Given the description of an element on the screen output the (x, y) to click on. 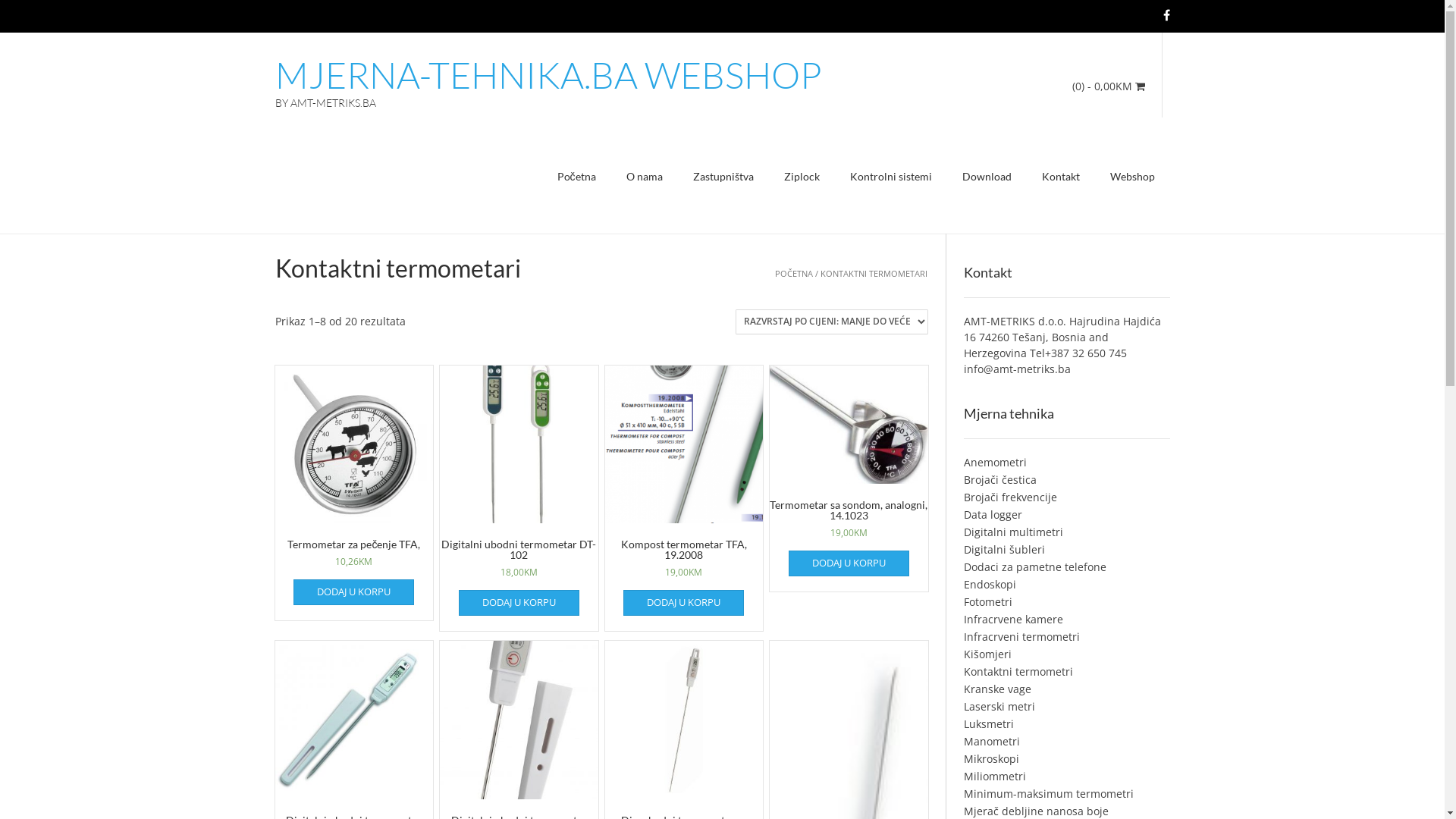
Luksmetri Element type: text (988, 723)
Minimum-maksimum termometri Element type: text (1048, 793)
Infracrvene kamere Element type: text (1013, 618)
DODAJ U KORPU Element type: text (848, 563)
Anemometri Element type: text (994, 462)
DODAJ U KORPU Element type: text (518, 602)
Webshop Element type: text (1132, 177)
Kompost termometar TFA, 19.2008
19,00KM Element type: text (684, 487)
Manometri Element type: text (991, 741)
Digitalni ubodni termometar DT-102
18,00KM Element type: text (518, 487)
Download Element type: text (986, 177)
Kontakt Element type: text (1060, 177)
O nama Element type: text (644, 177)
Dodaci za pametne telefone Element type: text (1034, 566)
Data logger Element type: text (992, 514)
DODAJ U KORPU Element type: text (353, 592)
(0) - 0,00KM Element type: text (1108, 85)
Ziplock Element type: text (801, 177)
Digitalni multimetri Element type: text (1013, 531)
Mikroskopi Element type: text (991, 758)
Kranske vage Element type: text (997, 688)
Miliommetri Element type: text (994, 775)
DODAJ U KORPU Element type: text (683, 602)
Infracrveni termometri Element type: text (1021, 636)
Find Us on Facebook Element type: hover (1166, 15)
Kontrolni sistemi Element type: text (890, 177)
Fotometri Element type: text (987, 601)
Kontaktni termometri Element type: text (1018, 671)
Endoskopi Element type: text (989, 584)
MJERNA-TEHNIKA.BA WEBSHOP Element type: text (547, 74)
Laserski metri Element type: text (999, 706)
Termometar sa sondom, analogni, 14.1023
19,00KM Element type: text (848, 467)
